Given the description of an element on the screen output the (x, y) to click on. 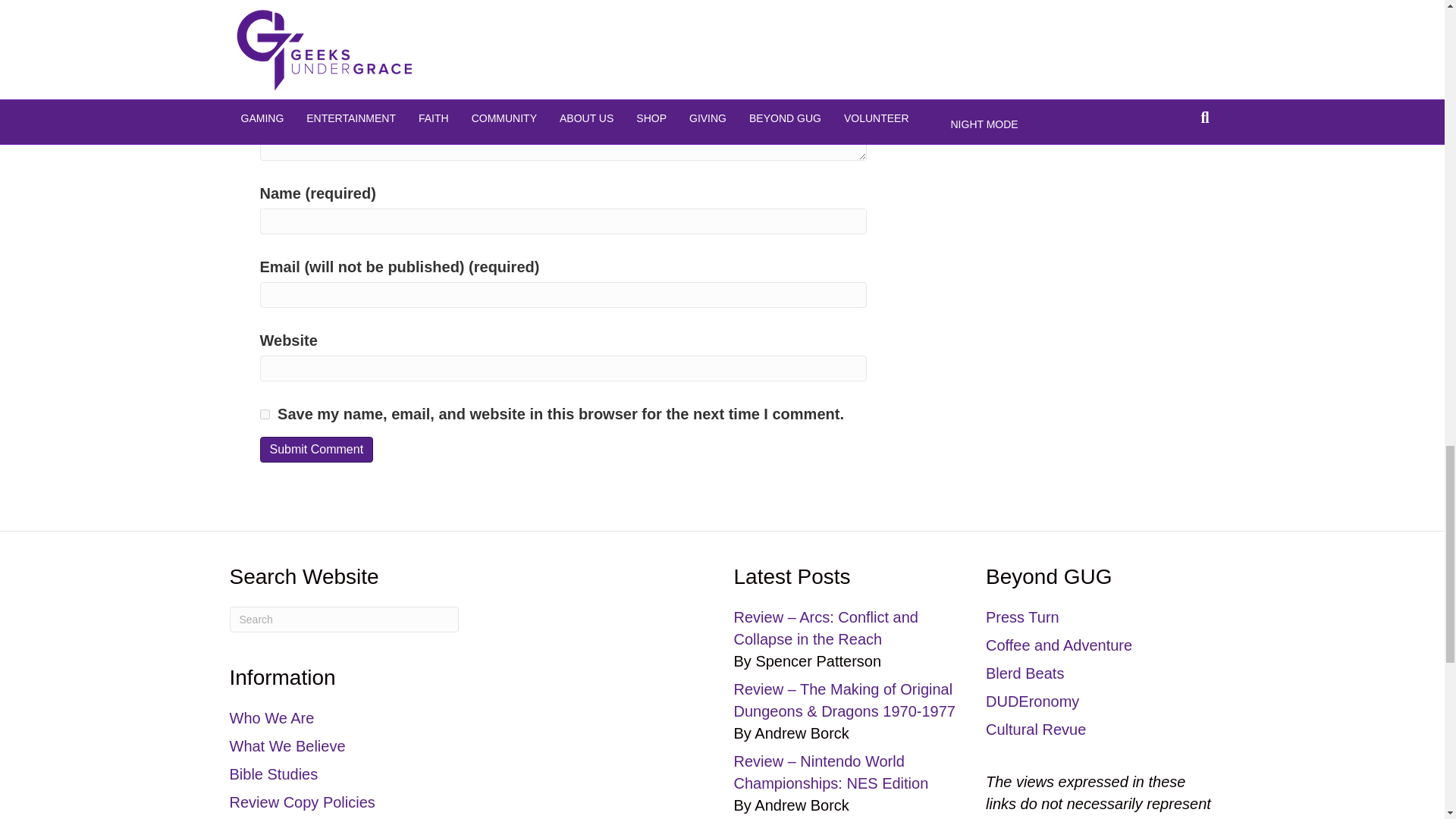
yes (264, 414)
Type and press Enter to search. (343, 619)
Submit Comment (315, 448)
